Given the description of an element on the screen output the (x, y) to click on. 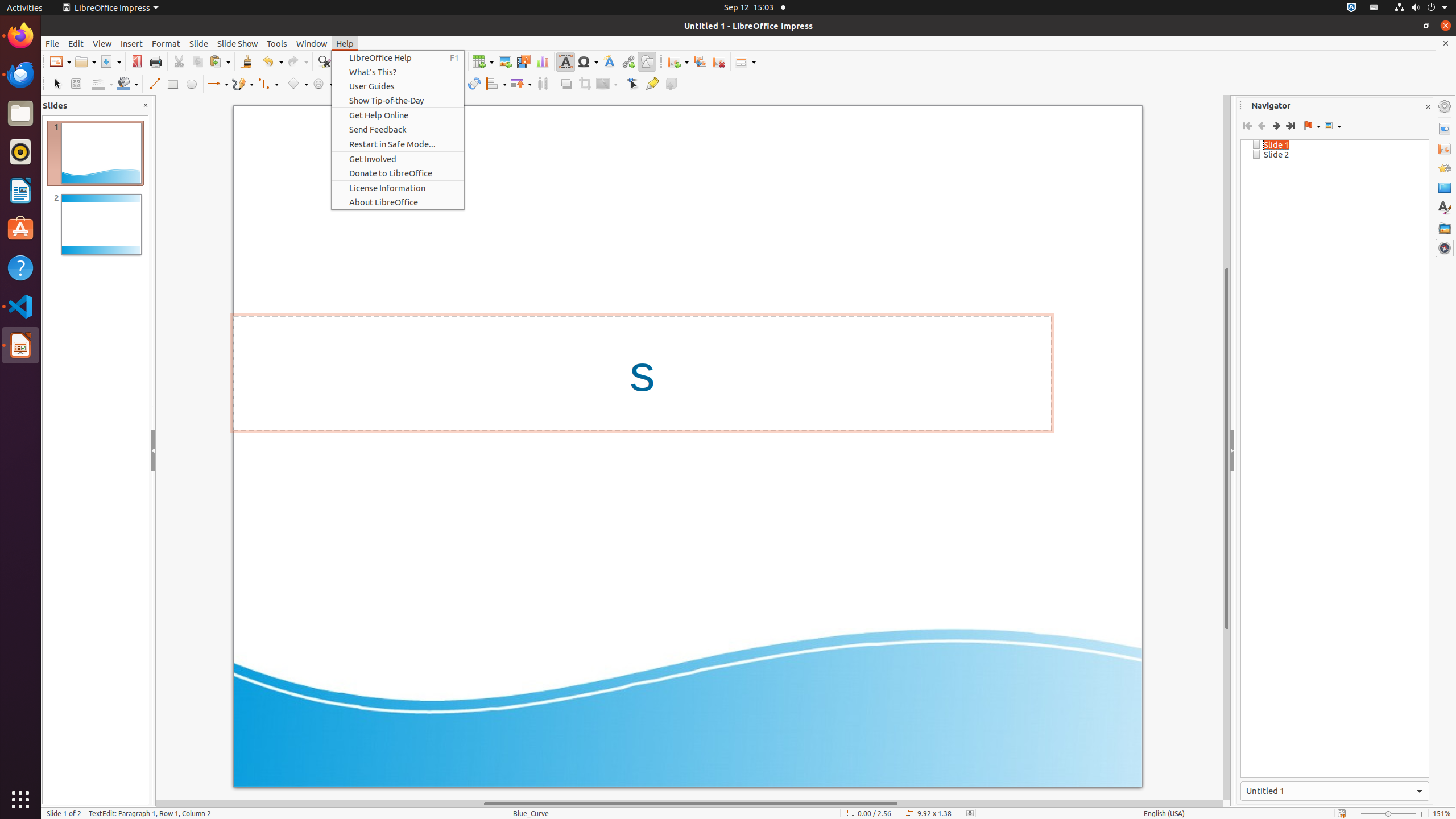
Styles Element type: radio-button (1444, 208)
Horizontal scroll bar Element type: scroll-bar (689, 803)
View Element type: menu (102, 43)
File Element type: menu (51, 43)
